Given the description of an element on the screen output the (x, y) to click on. 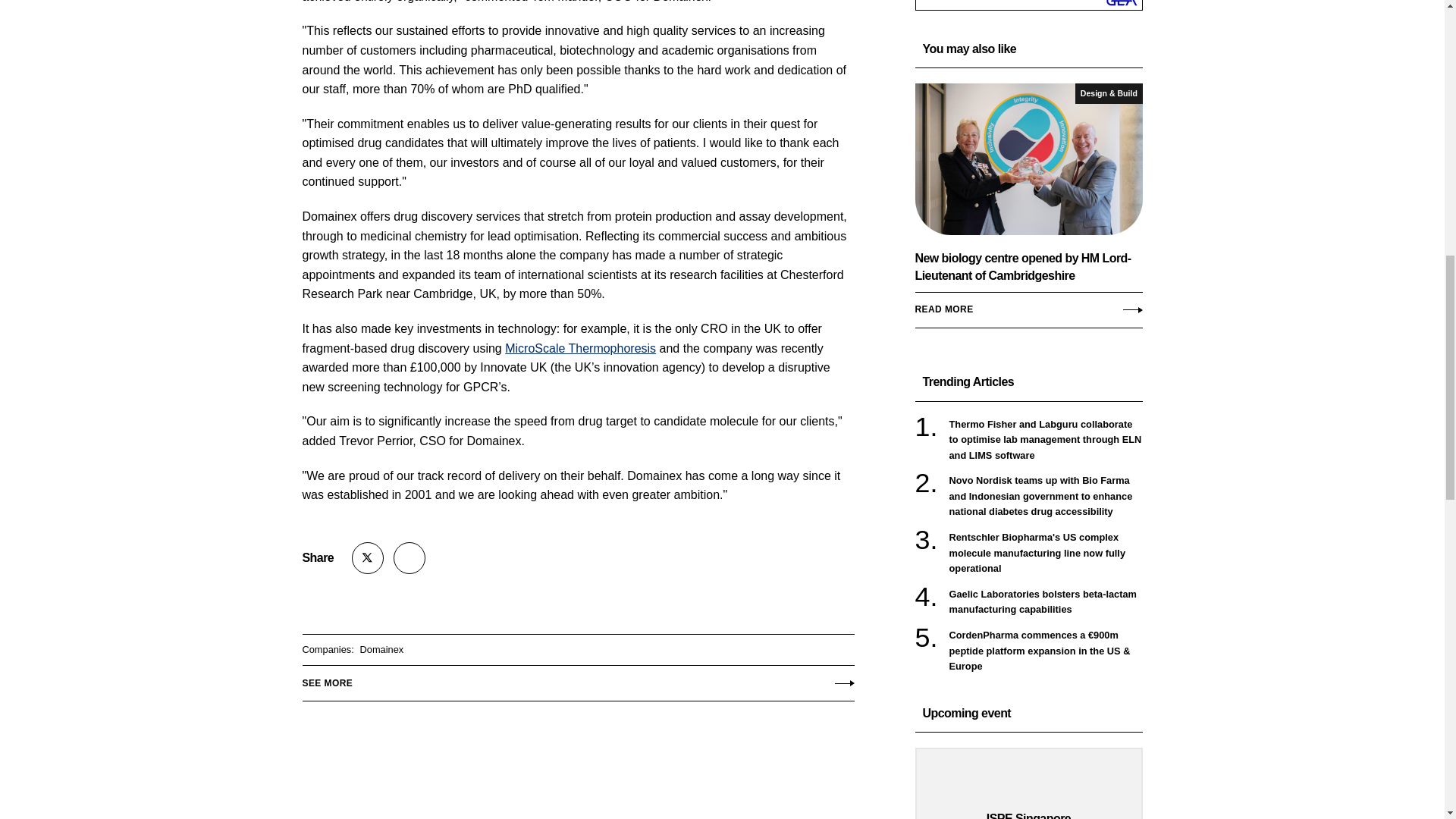
LinkedIn (409, 558)
Follow Manufacturing Chemist on LinkedIn (409, 558)
Follow Manufacturing Chemist on X (368, 558)
SEE MORE (577, 679)
MicroScale Thermophoresis (580, 348)
X (368, 558)
